Given the description of an element on the screen output the (x, y) to click on. 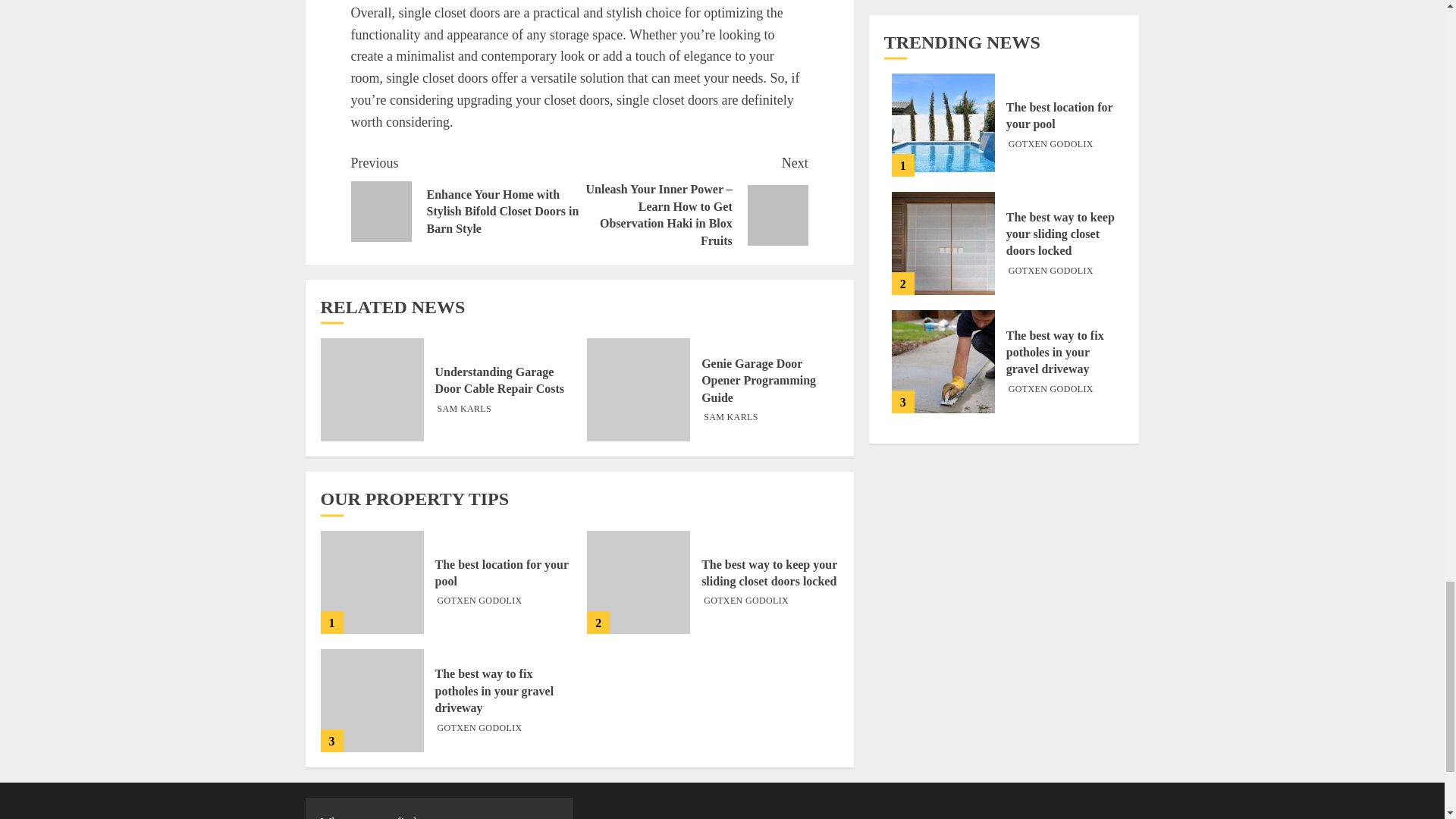
GOTXEN GODOLIX (746, 601)
The best way to fix potholes in your gravel driveway (371, 700)
The best way to keep your sliding closet doors locked (638, 581)
Genie Garage Door Opener Programming Guide (638, 389)
SAM KARLS (464, 409)
Understanding Garage Door Cable Repair Costs (499, 380)
The best way to keep your sliding closet doors locked (769, 572)
The best location for your pool (371, 581)
The best way to fix potholes in your gravel driveway (494, 690)
GOTXEN GODOLIX (478, 728)
SAM KARLS (730, 417)
Genie Garage Door Opener Programming Guide (758, 380)
The best location for your pool (502, 572)
Understanding Garage Door Cable Repair Costs (371, 389)
